Given the description of an element on the screen output the (x, y) to click on. 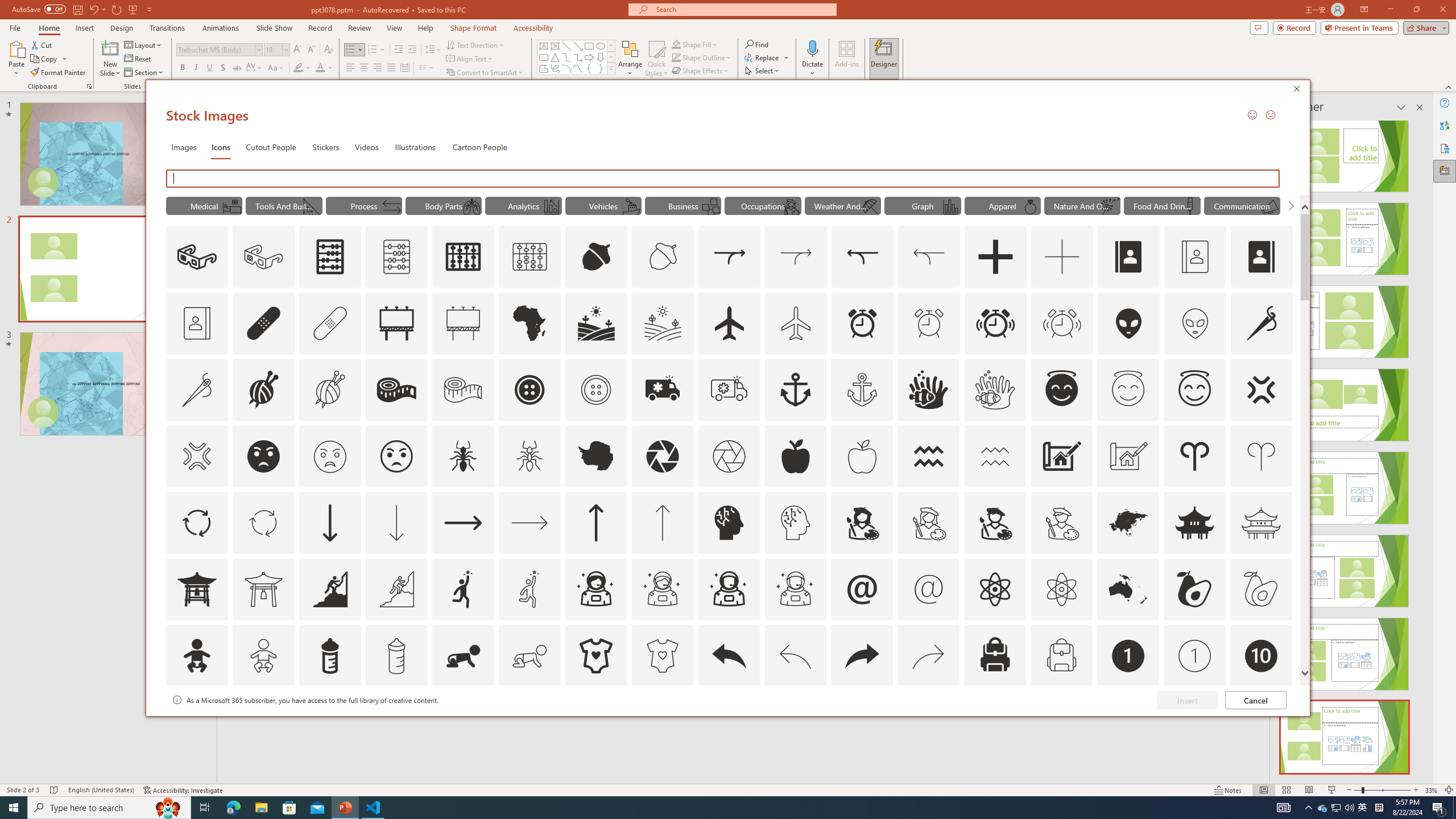
AutomationID: Icons_Badge2 (263, 721)
AutomationID: Icons_Badge6 (795, 721)
AutomationID: Icons_Agriculture_M (663, 323)
AutomationID: Icons_ArrowUp (595, 522)
AutomationID: Icons_Acorn_M (663, 256)
AutomationID: Icons_Ambulance (662, 389)
AutomationID: Icons_BabyCrawling (462, 655)
